Given the description of an element on the screen output the (x, y) to click on. 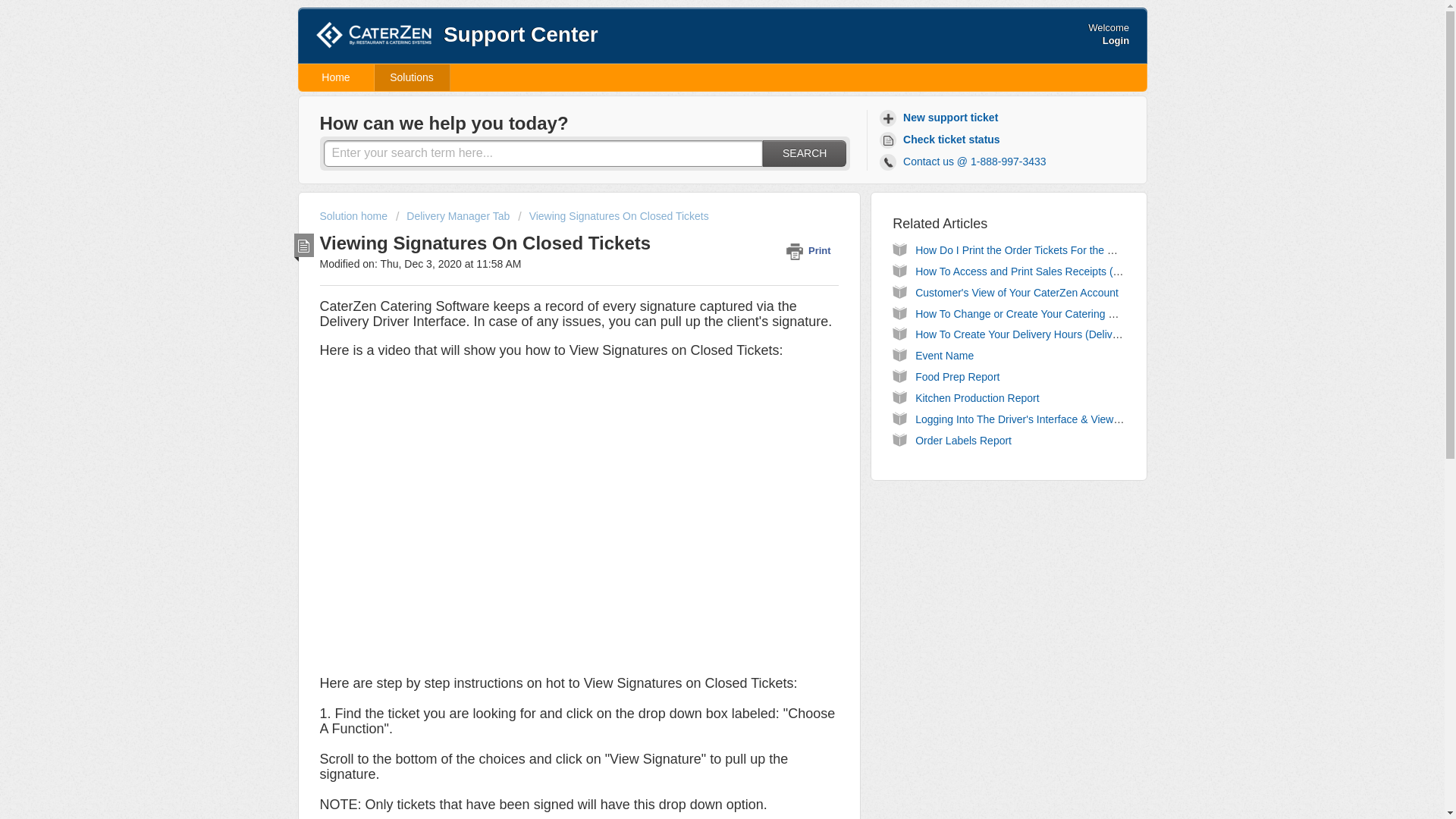
Order Labels Report (963, 440)
Viewing Signatures On Closed Tickets (613, 215)
New support ticket (940, 117)
Event Name (944, 355)
Check ticket status (941, 139)
Customer's View of Your CaterZen Account (1016, 292)
Solution home (355, 215)
Solutions (411, 77)
Kitchen Production Report (977, 398)
Home (336, 77)
SEARCH (803, 153)
Check ticket status (941, 139)
Delivery Manager Tab (452, 215)
Print this Article (812, 250)
New support ticket (940, 117)
